Given the description of an element on the screen output the (x, y) to click on. 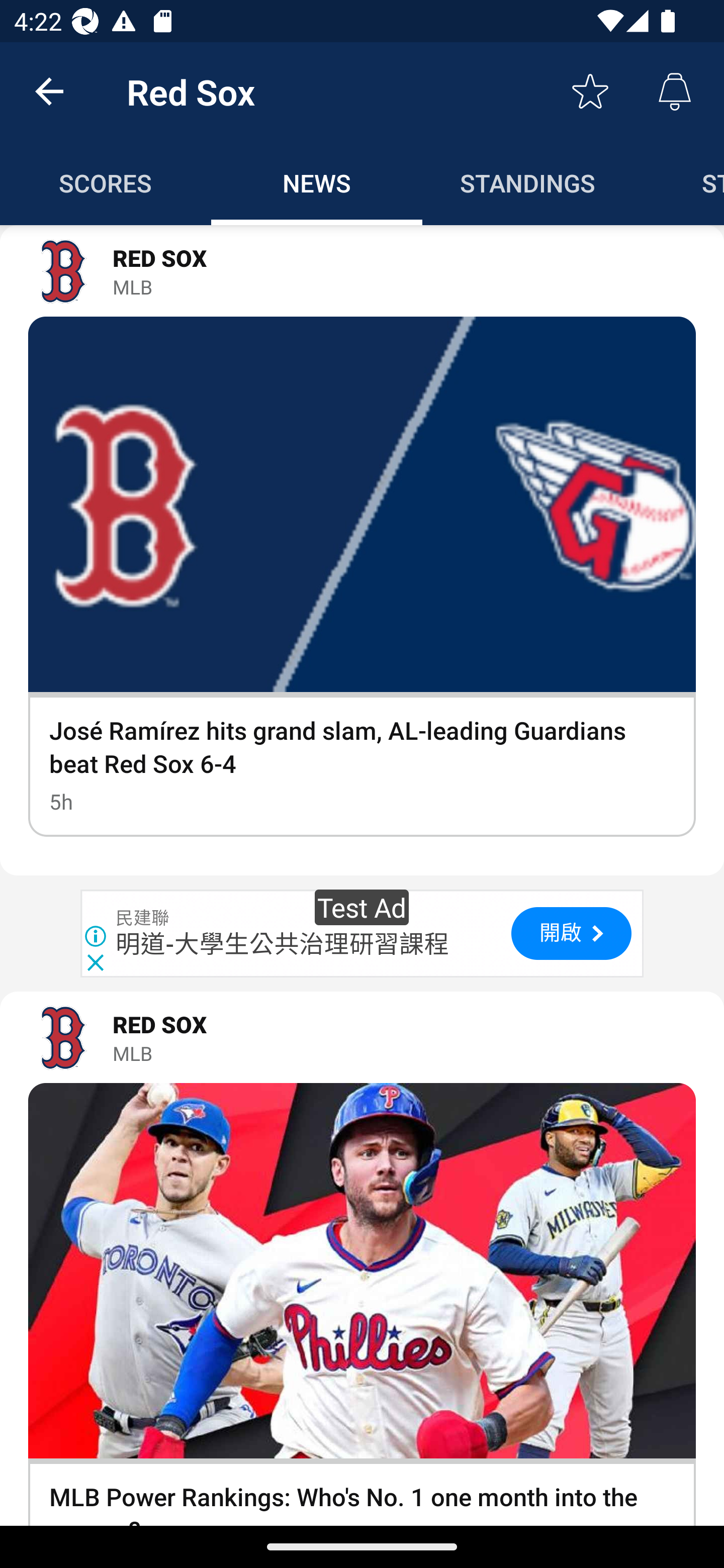
back.button (49, 90)
Favorite toggle (590, 90)
Alerts (674, 90)
Scores SCORES (105, 183)
Standings STANDINGS (527, 183)
RED SOX MLB (362, 270)
民建聯 (142, 918)
開啟 (570, 933)
明道-大學生公共治理研習課程 (282, 943)
RED SOX MLB (362, 1036)
